Given the description of an element on the screen output the (x, y) to click on. 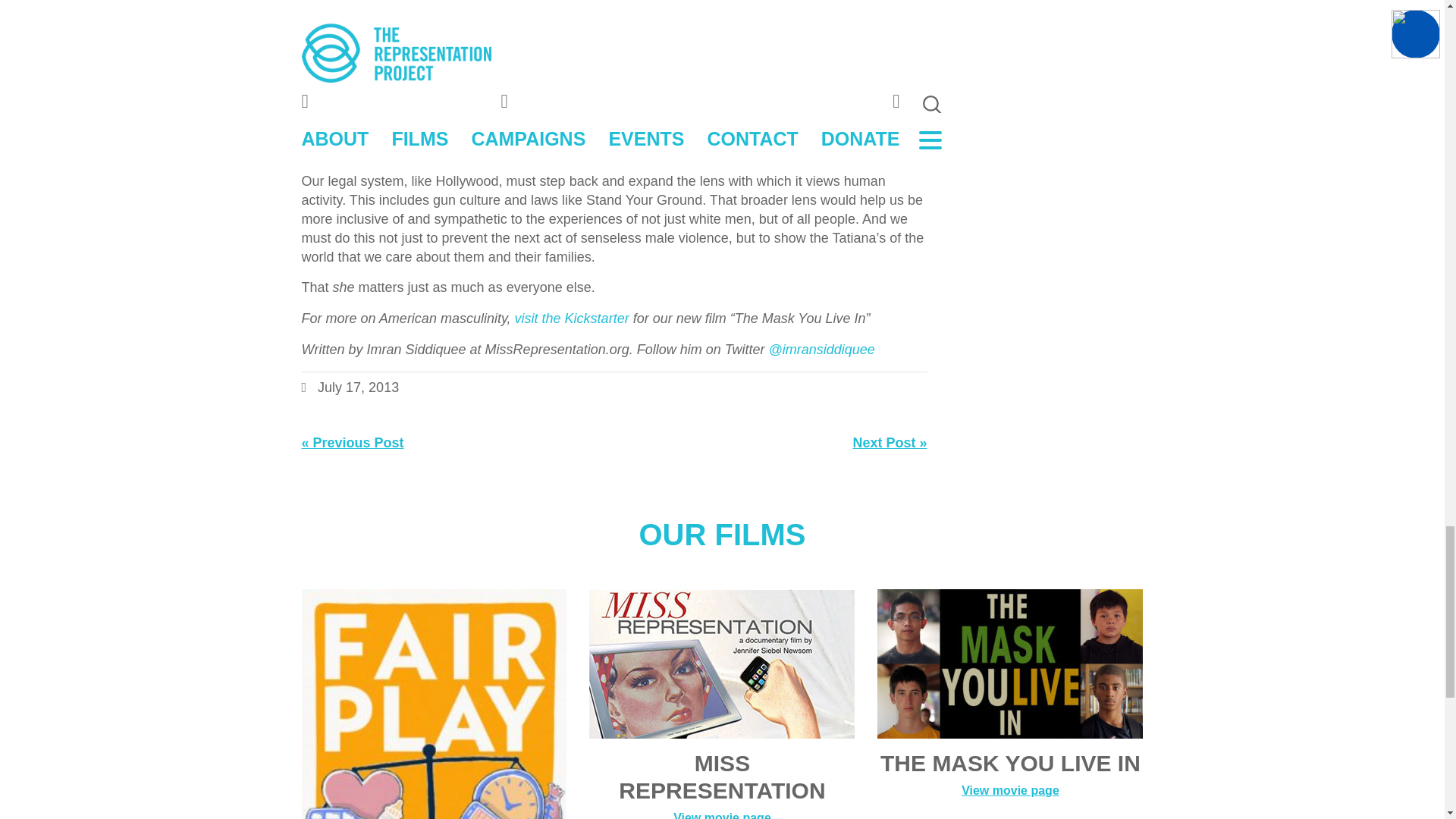
MISS REPRESENTATION (721, 662)
THE MASK YOU LIVE IN (1009, 662)
FAIR PLAY (434, 786)
visit the Kickstarter (571, 318)
